Given the description of an element on the screen output the (x, y) to click on. 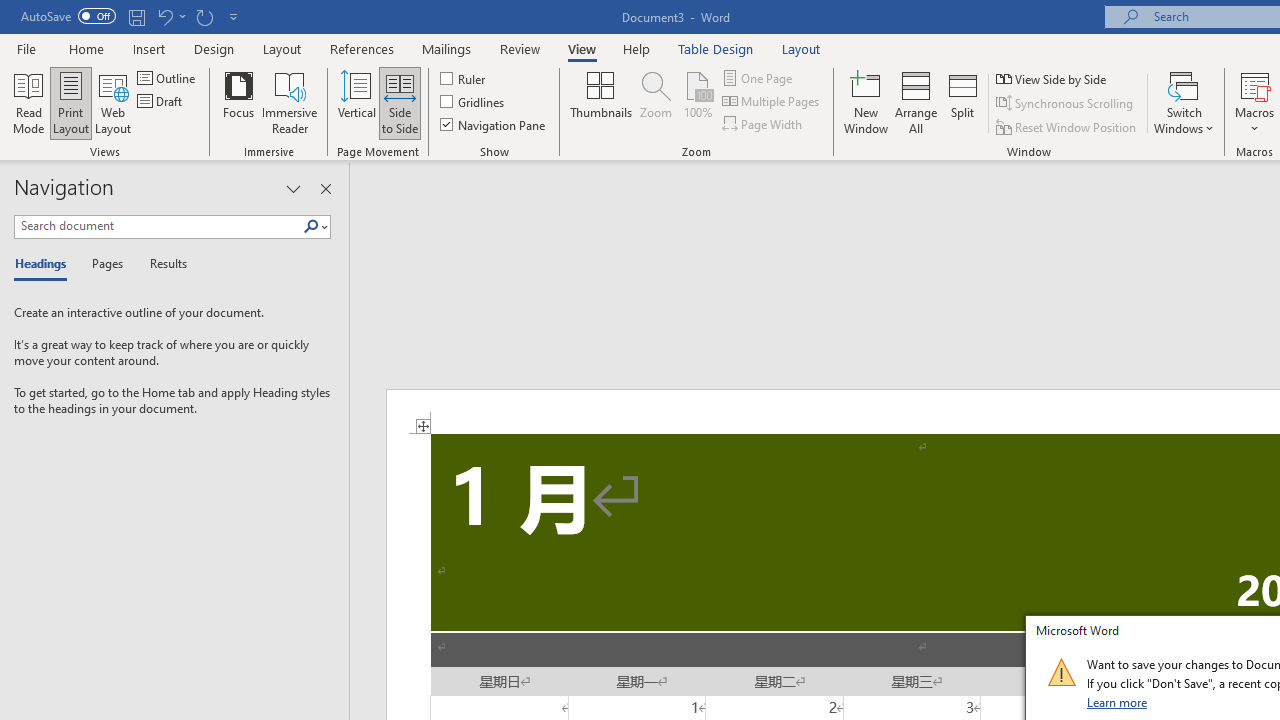
View Macros (1254, 84)
Headings (45, 264)
Learn more (1118, 702)
Arrange All (916, 102)
Zoom... (655, 102)
Thumbnails (601, 102)
Split (963, 102)
Synchronous Scrolling (1066, 103)
Ruler (463, 78)
Draft (161, 101)
